Given the description of an element on the screen output the (x, y) to click on. 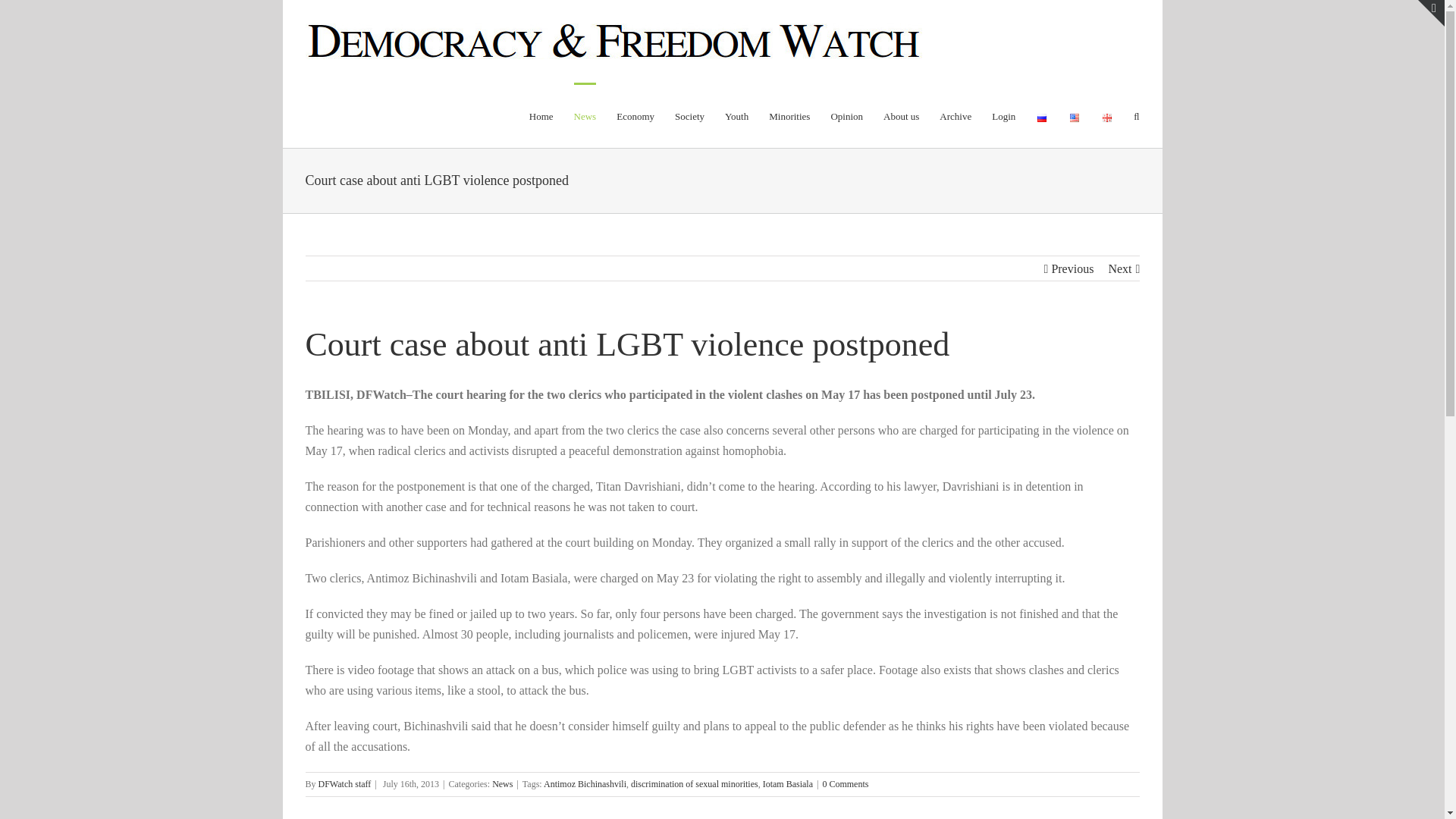
Posts by DFWatch staff (344, 783)
